Given the description of an element on the screen output the (x, y) to click on. 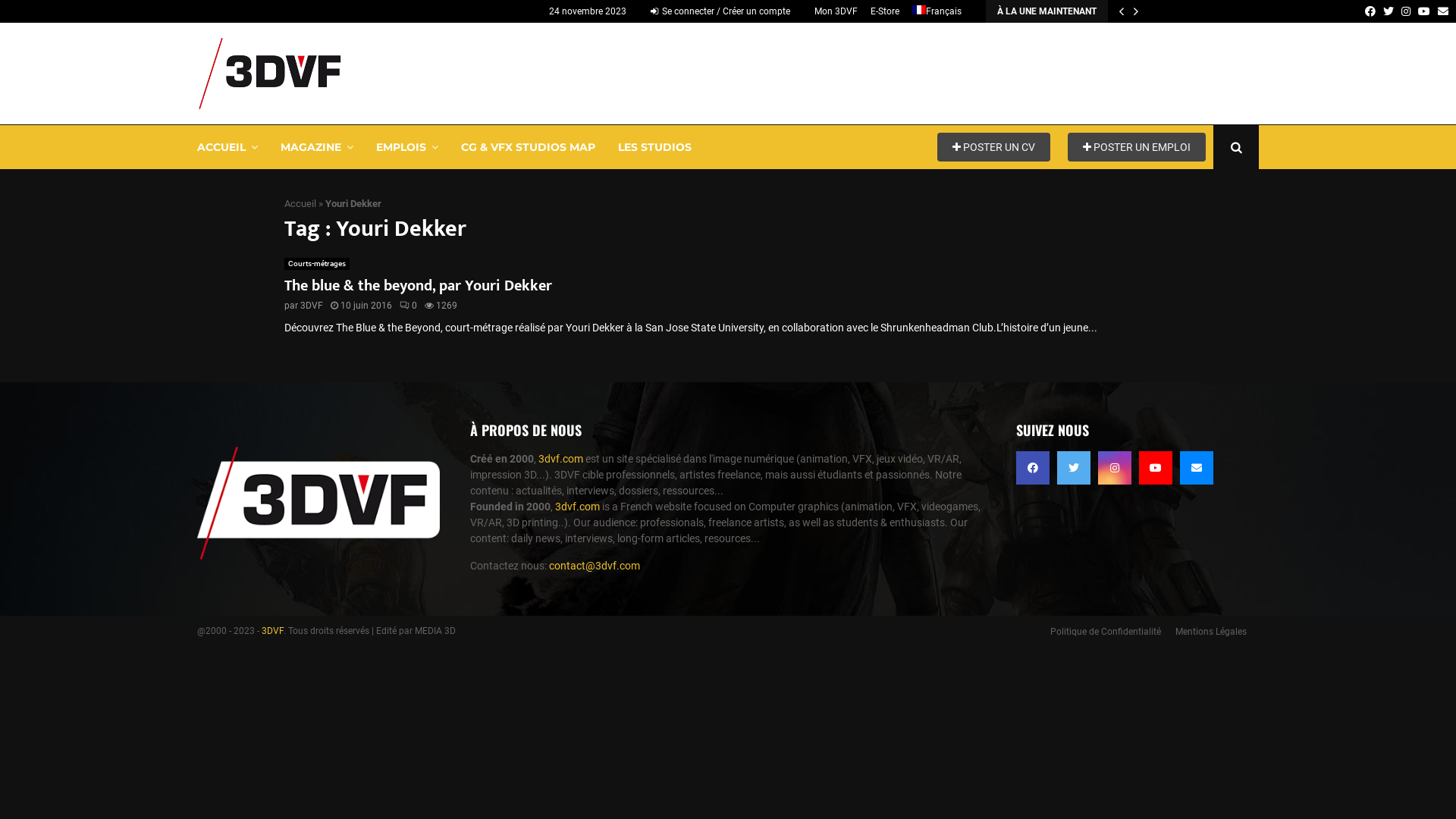
Youtube Element type: text (1424, 11)
CG & VFX STUDIOS MAP Element type: text (528, 146)
The blue & the beyond, par Youri Dekker Element type: text (418, 285)
3dvf.com Element type: text (577, 506)
0 Element type: text (408, 305)
Facebook Element type: hover (1032, 467)
Youtube Element type: hover (1155, 467)
contact@3dvf.com Element type: text (594, 565)
Facebook Element type: text (1370, 11)
Twitter Element type: hover (1073, 467)
LES STUDIOS Element type: text (654, 146)
3dvf.com Element type: text (560, 458)
EMPLOIS Element type: text (407, 146)
10 juin 2016 Element type: text (366, 305)
POSTER UN EMPLOI Element type: text (1136, 145)
Instagram Element type: text (1405, 11)
Accueil Element type: text (300, 202)
Mon 3DVF Element type: text (835, 11)
3DVF Element type: text (311, 305)
3DVF Element type: text (272, 630)
Twitter Element type: text (1388, 11)
Email Element type: text (1442, 11)
Instagram Element type: hover (1114, 467)
ACCUEIL Element type: text (227, 146)
POSTER UN CV Element type: text (993, 145)
E-Store Element type: text (884, 11)
MAGAZINE Element type: text (316, 146)
Email Element type: hover (1196, 467)
